Given the description of an element on the screen output the (x, y) to click on. 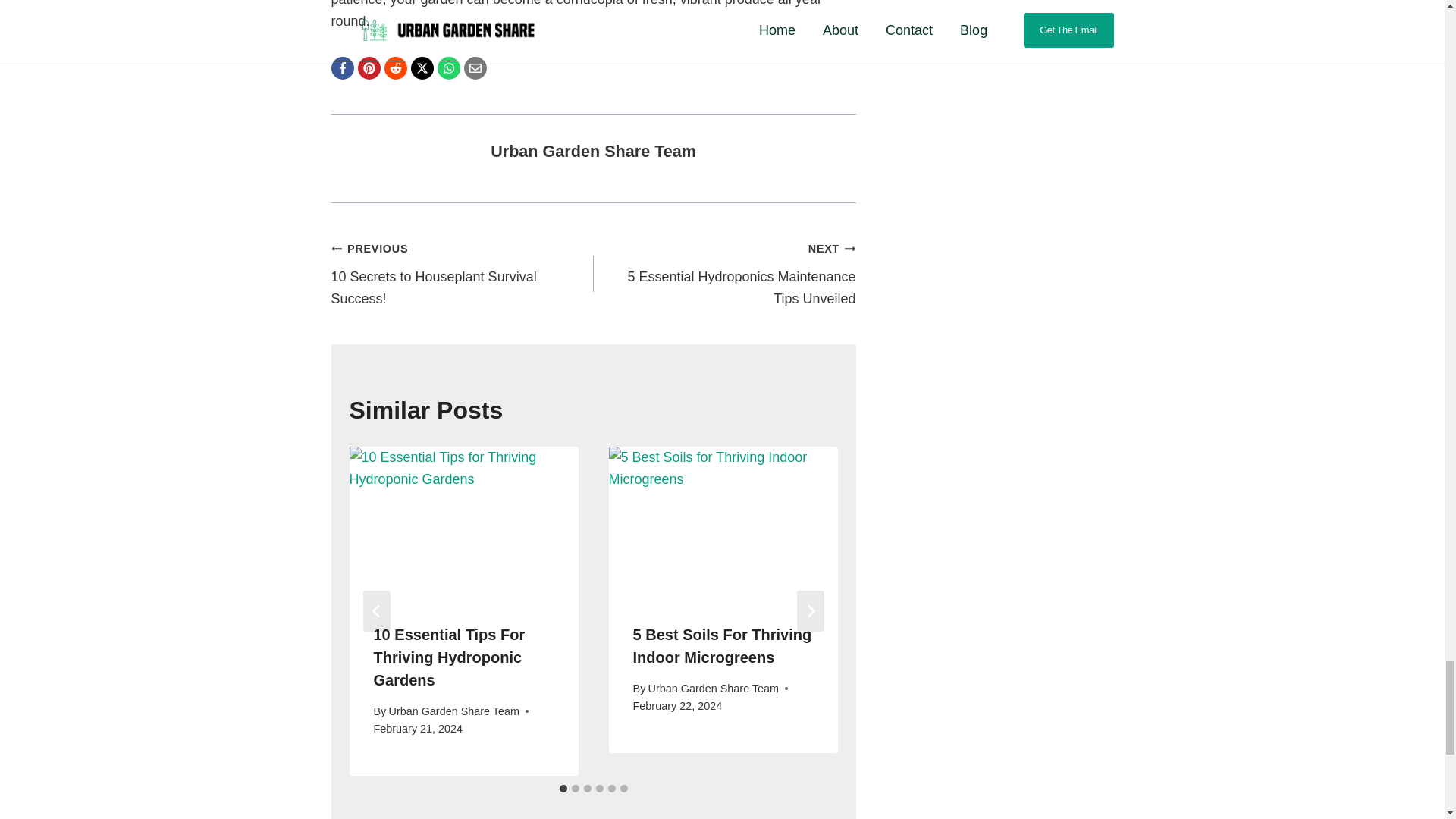
5 Best Soils For Thriving Indoor Microgreens (722, 645)
10 Essential Tips For Thriving Hydroponic Gardens (448, 657)
Urban Garden Share Team (461, 273)
